Given the description of an element on the screen output the (x, y) to click on. 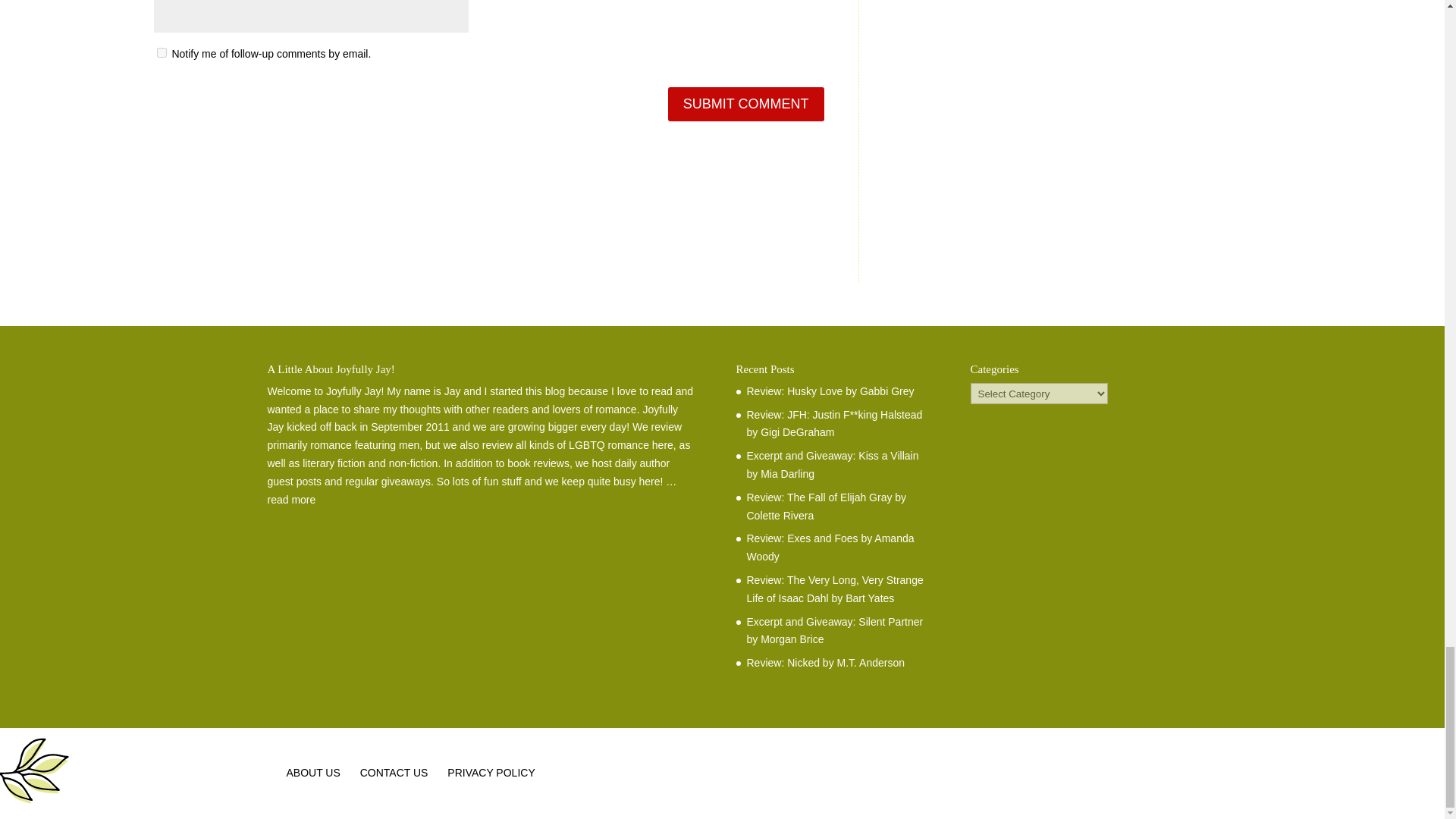
subscribe (160, 52)
Submit Comment (746, 103)
